Given the description of an element on the screen output the (x, y) to click on. 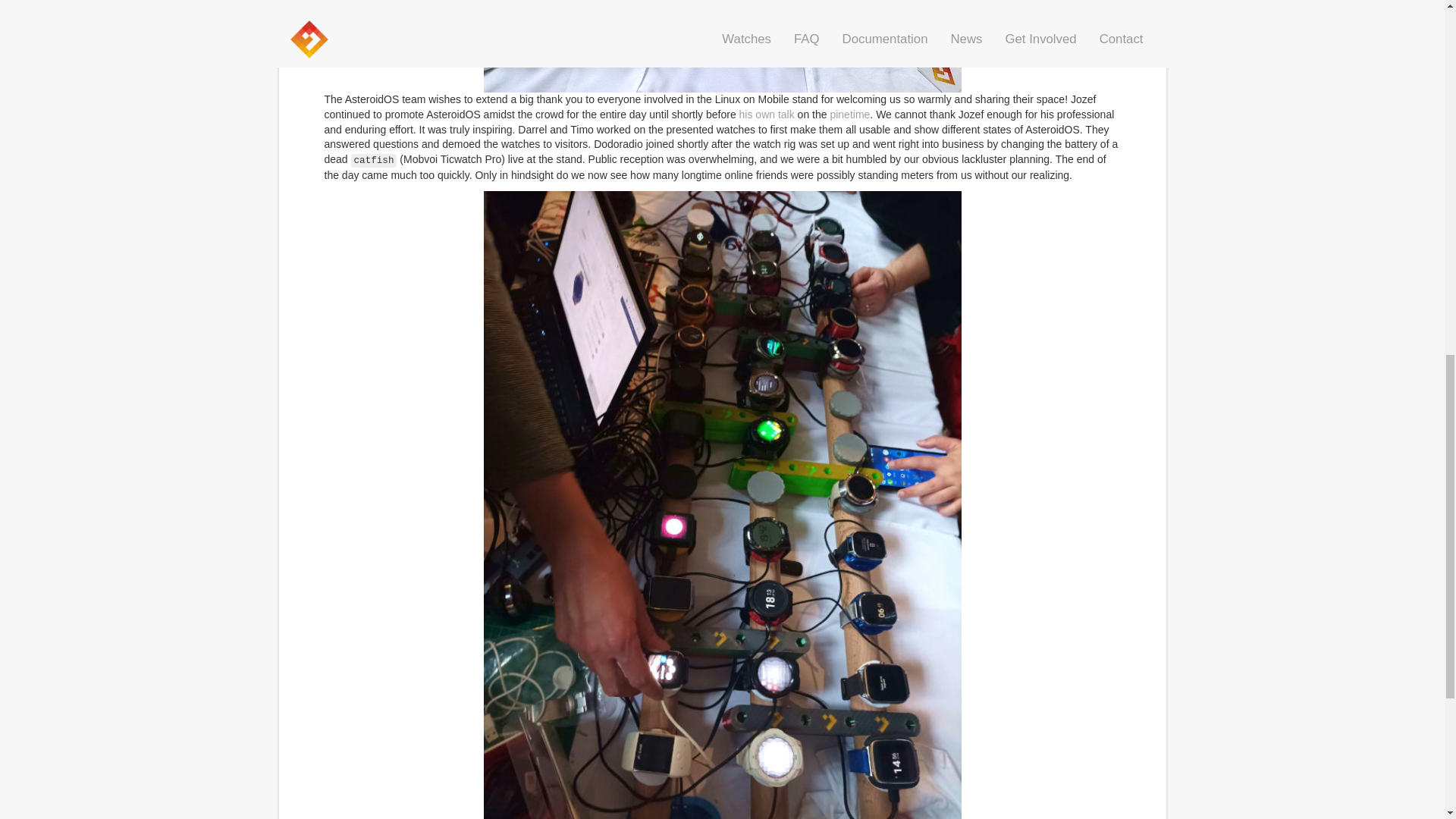
pinetime (849, 114)
his own talk (766, 114)
